Given the description of an element on the screen output the (x, y) to click on. 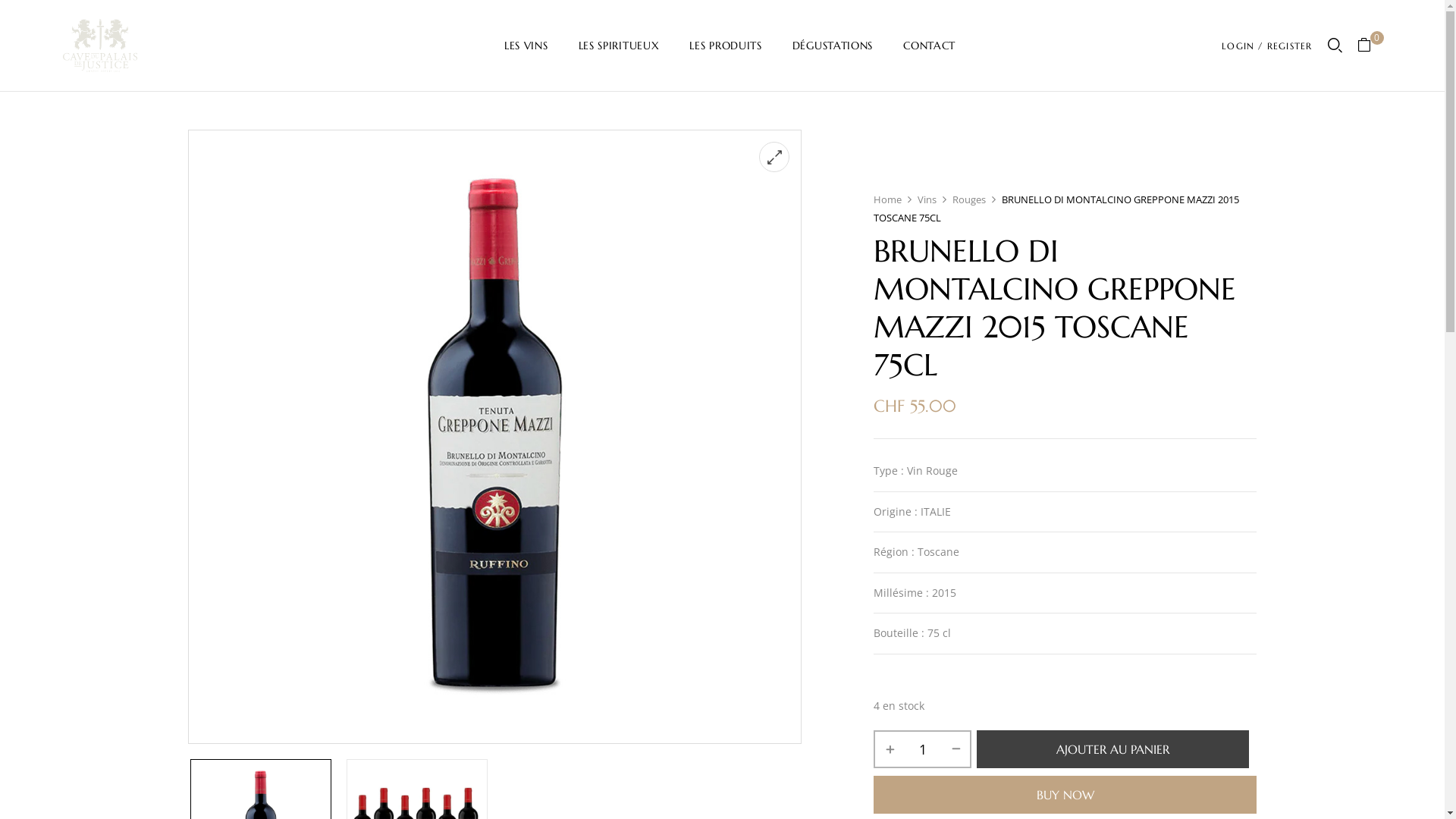
CONTACT Element type: text (929, 45)
Vins Element type: text (926, 199)
BRUNELLO DI MONTALCINO GREPPONE MAZZI 2015 TOSCANE 75CL Element type: hover (494, 436)
BUY NOW Element type: text (1064, 793)
- Element type: text (955, 748)
LES SPIRITUEUX Element type: text (618, 45)
Rouges Element type: text (968, 199)
Home Element type: text (887, 199)
LES PRODUITS Element type: text (725, 45)
AJOUTER AU PANIER Element type: text (1112, 748)
+ Element type: text (889, 748)
LES VINS Element type: text (526, 45)
LOGIN / REGISTER Element type: text (1266, 44)
0 Element type: text (1369, 45)
